Given the description of an element on the screen output the (x, y) to click on. 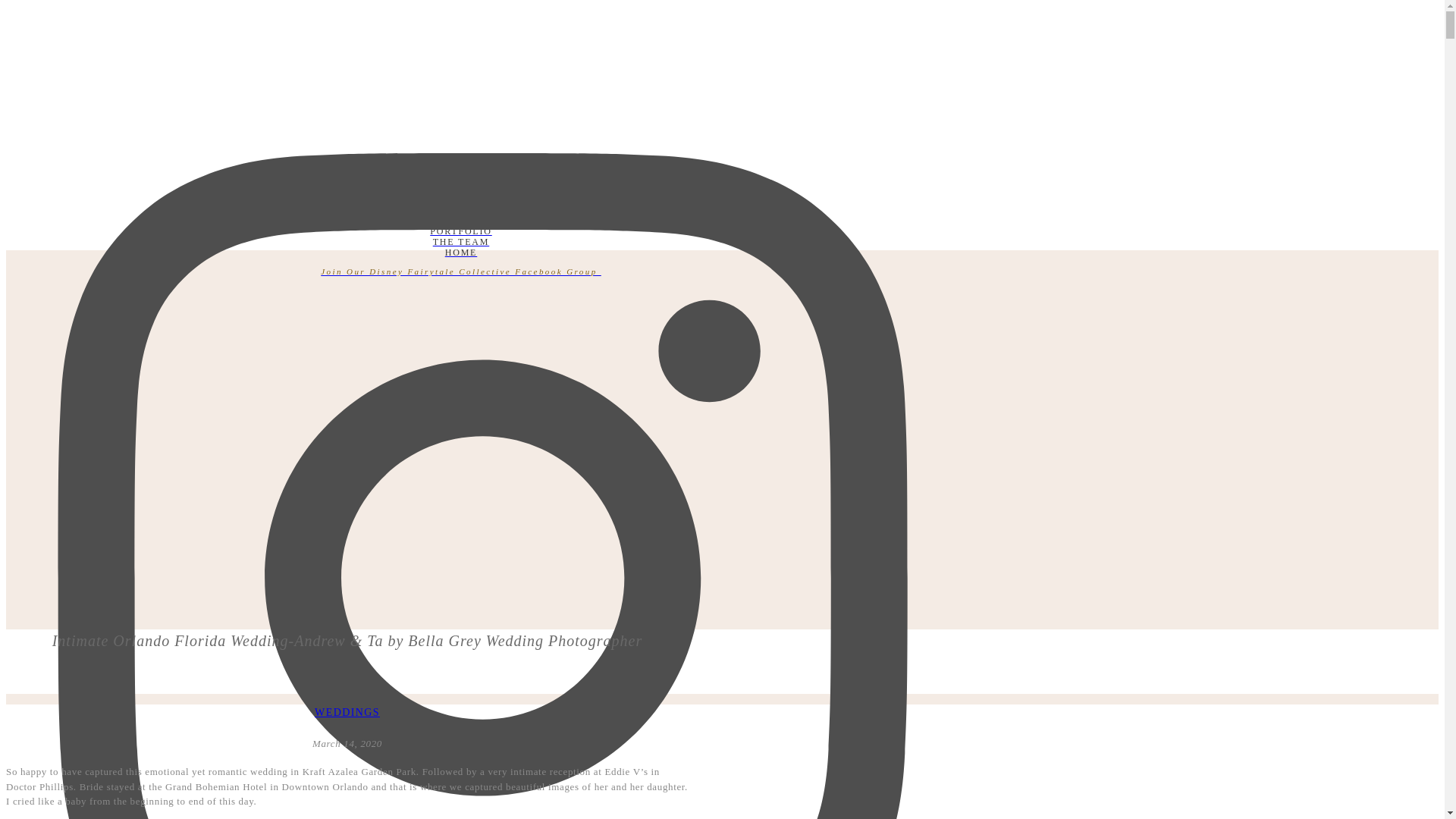
HOME (460, 252)
CONTACT (460, 186)
PORTFOLIO (460, 231)
WEDDINGS (347, 712)
BLOG (460, 197)
Join Our Disney Fairytale Collective Facebook Group  (460, 271)
THE TEAM (460, 241)
SERVICES (460, 208)
FAQ (460, 219)
